Given the description of an element on the screen output the (x, y) to click on. 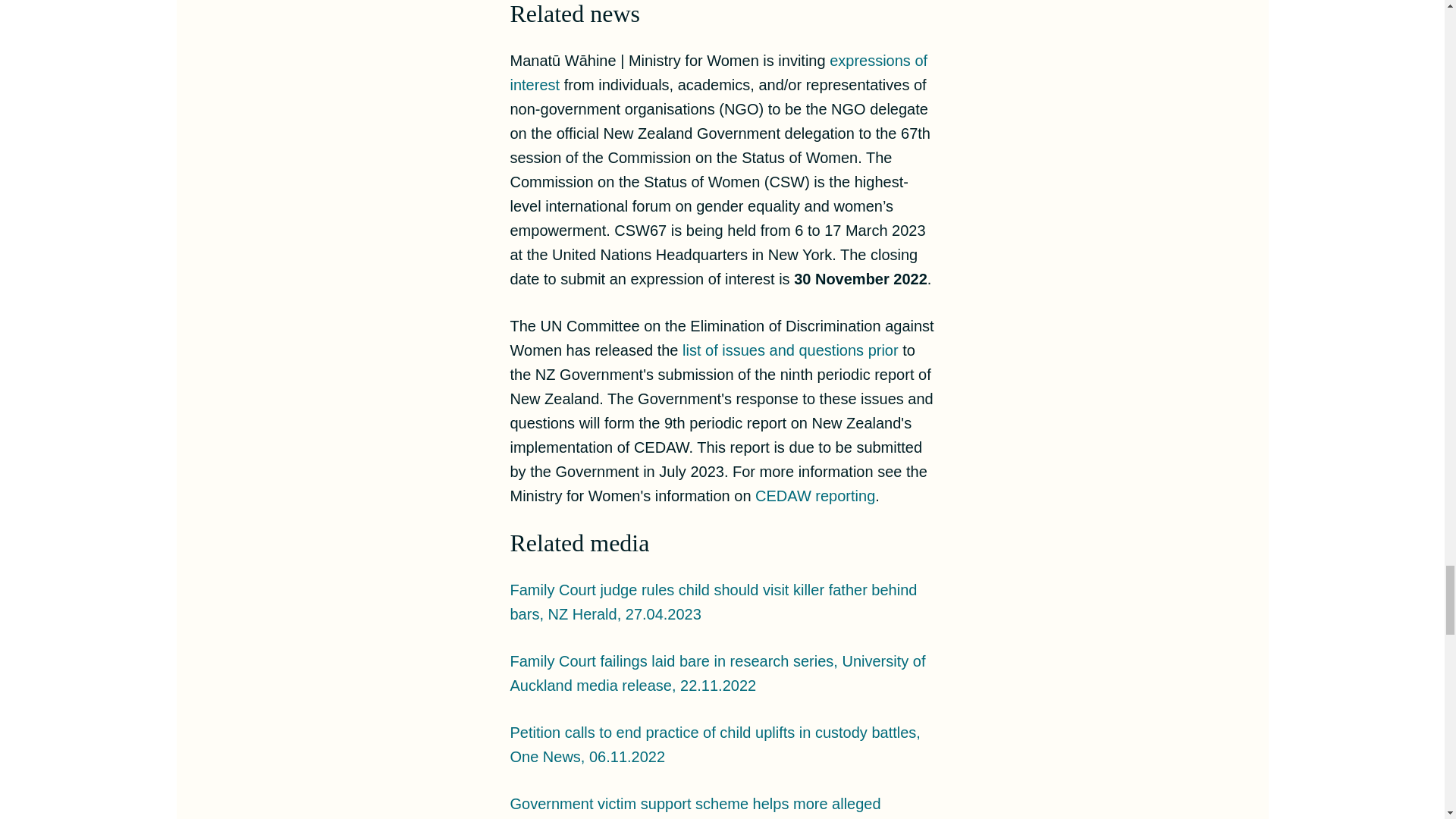
CEDAW reporting (815, 495)
expressions of interest (718, 72)
list of issues and questions prior (790, 350)
